Given the description of an element on the screen output the (x, y) to click on. 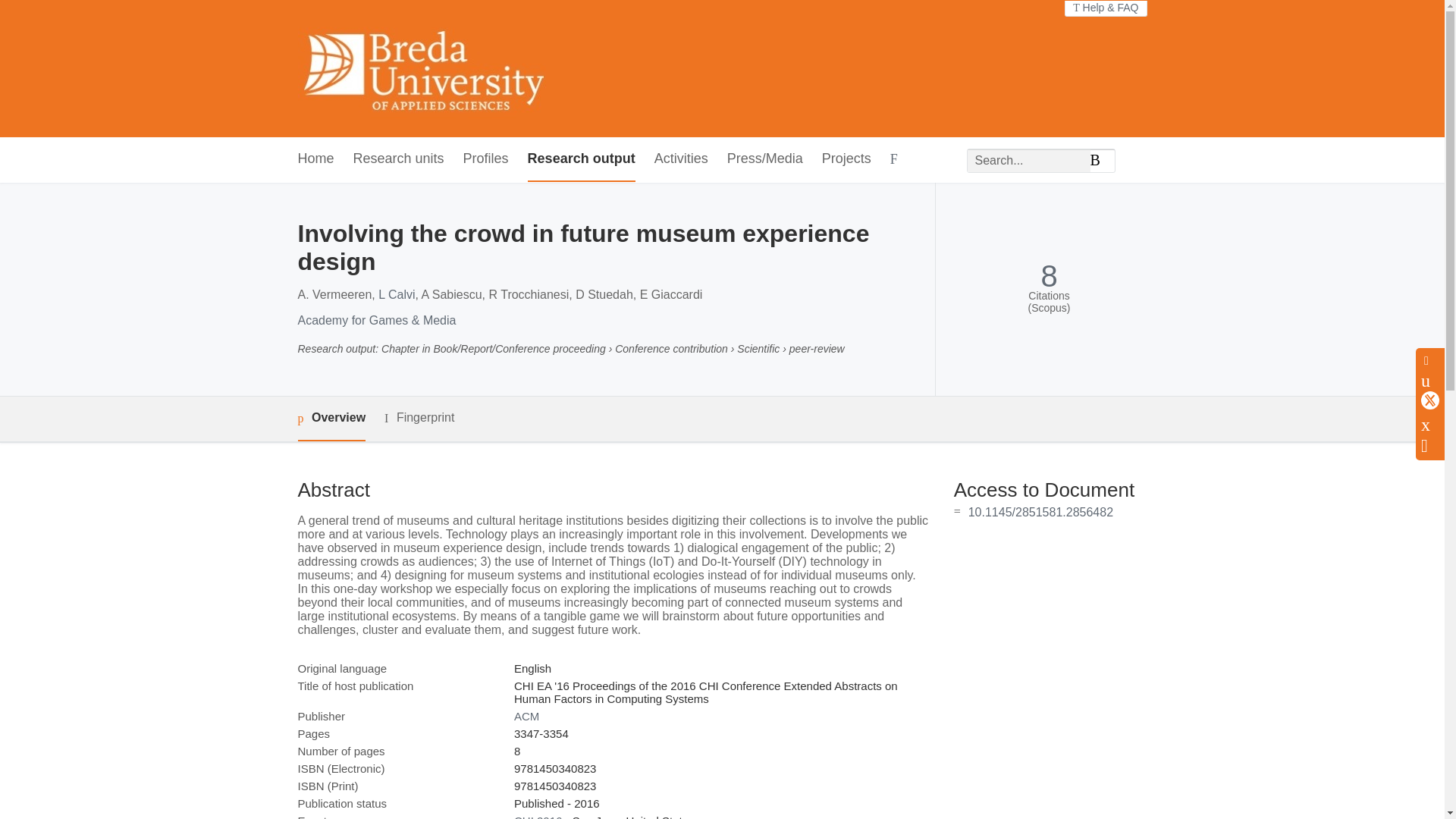
Overview (331, 418)
L Calvi (396, 294)
BUas Research Portal Home (420, 68)
Research output (580, 159)
Activities (680, 159)
ACM (525, 716)
Research units (398, 159)
Fingerprint (419, 417)
Projects (846, 159)
